Given the description of an element on the screen output the (x, y) to click on. 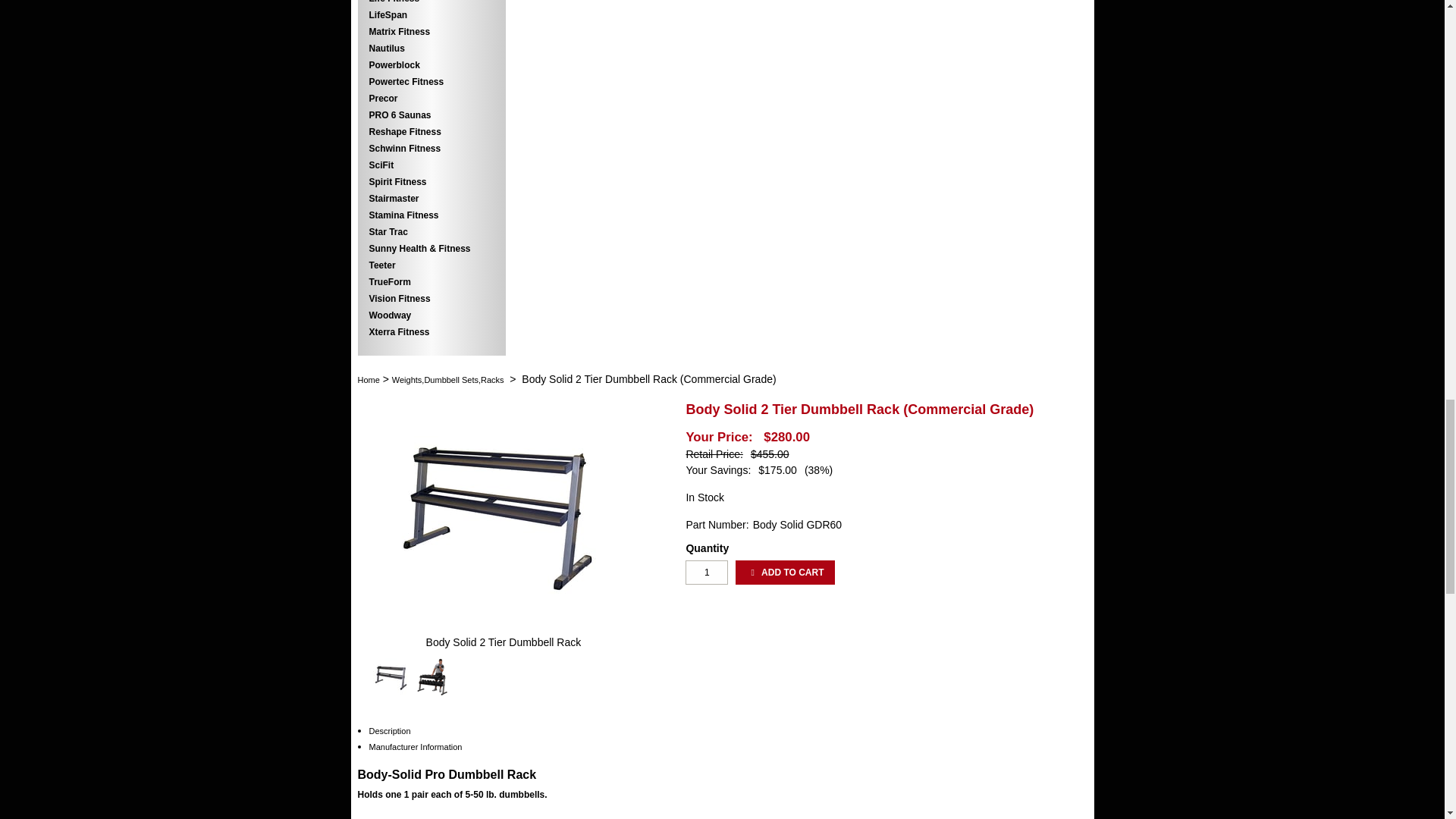
1 (706, 572)
Body Solid 2 Tier Dumbbell Rack  (503, 642)
